Given the description of an element on the screen output the (x, y) to click on. 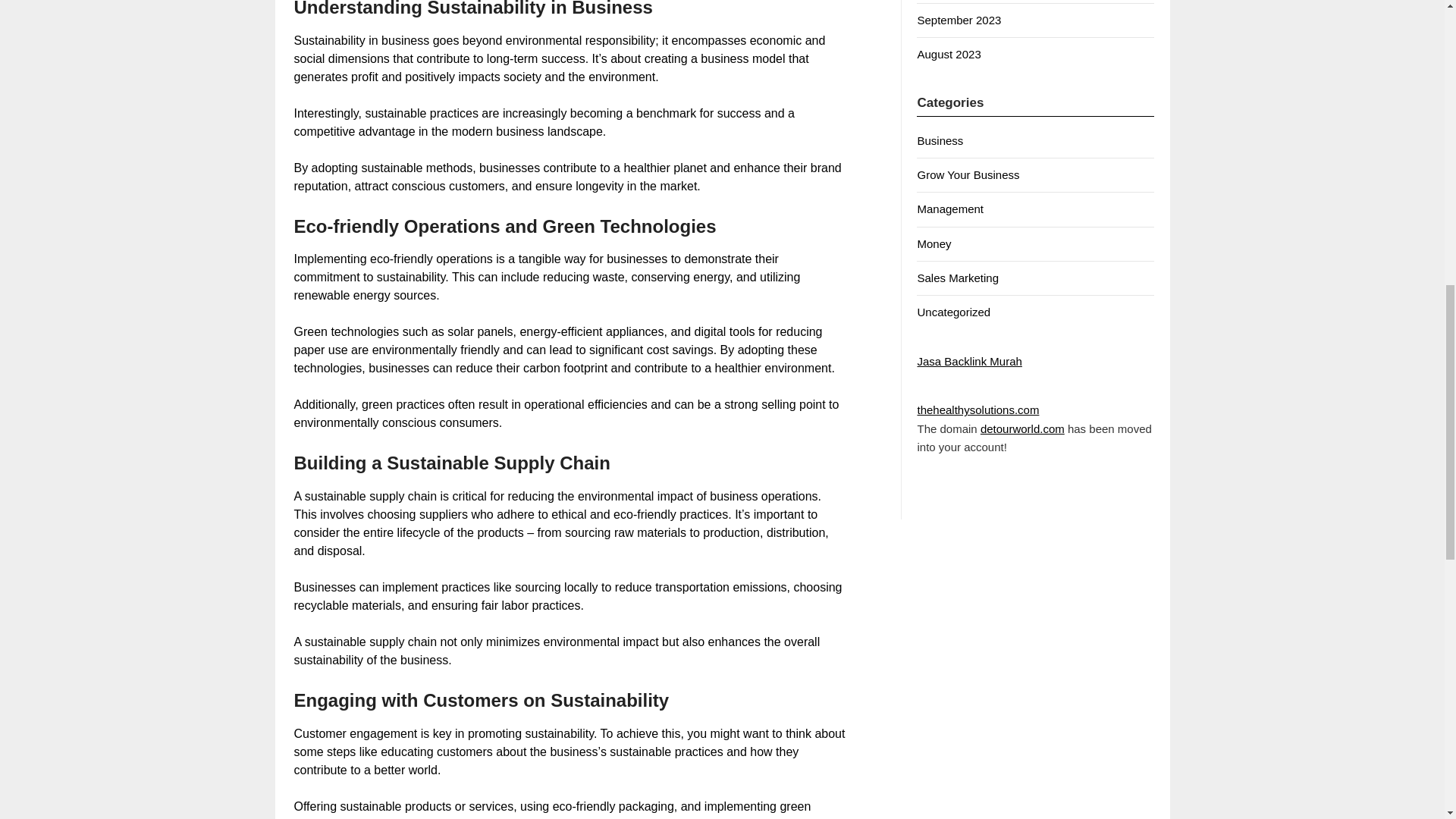
Money (933, 243)
August 2023 (948, 53)
Sales Marketing (957, 277)
Management (950, 208)
Uncategorized (953, 311)
September 2023 (959, 19)
Grow Your Business (968, 174)
Business (939, 140)
